Given the description of an element on the screen output the (x, y) to click on. 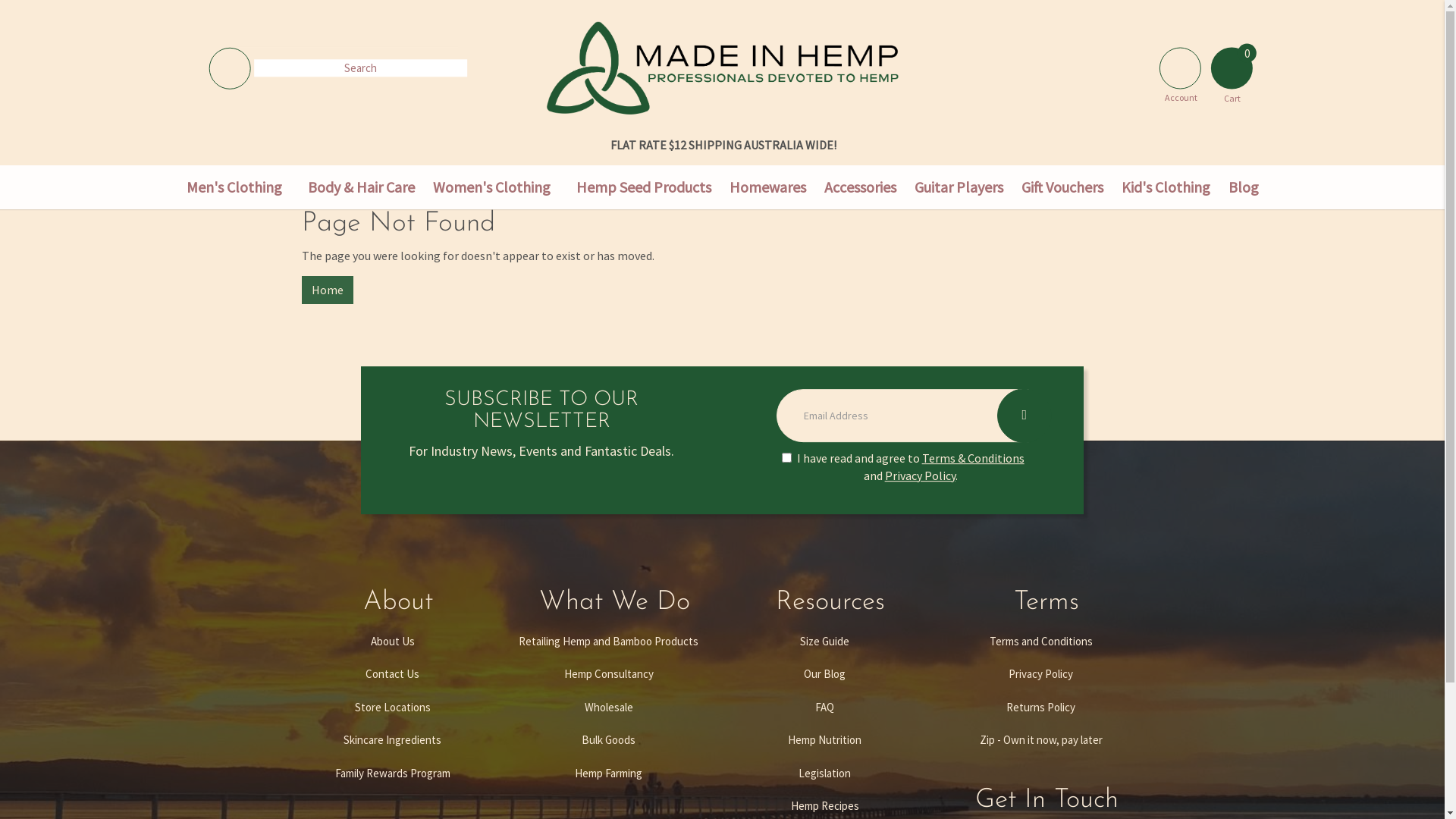
Skincare Ingredients Element type: text (391, 739)
Blog Element type: text (1243, 187)
Bulk Goods Element type: text (608, 739)
Hemp Consultancy Element type: text (608, 673)
Hemp Nutrition Element type: text (823, 739)
Store Locations Element type: text (391, 706)
Gift Vouchers Element type: text (1061, 187)
Terms & Conditions Element type: text (973, 457)
Privacy Policy Element type: text (1040, 673)
Men's Clothing Element type: text (234, 187)
Zip - Own it now, pay later Element type: text (1040, 739)
0
Cart Element type: text (1231, 67)
Women's Clothing Element type: text (490, 187)
Privacy Policy Element type: text (919, 475)
Retailing Hemp and Bamboo Products Element type: text (608, 640)
Homewares Element type: text (767, 187)
Wholesale Element type: text (608, 706)
Guitar Players Element type: text (958, 187)
Account Element type: text (1180, 67)
Hemp Seed Products Element type: text (643, 187)
Terms and Conditions Element type: text (1040, 640)
Hemp Farming Element type: text (608, 772)
About Us Element type: text (391, 640)
Our Blog Element type: text (823, 673)
Size Guide Element type: text (823, 640)
Returns Policy Element type: text (1040, 706)
Contact Us Element type: text (391, 673)
Account Element type: text (1181, 63)
Made In Hemp Pty Ltd Element type: hover (721, 66)
Body & Hair Care Element type: text (360, 187)
Legislation Element type: text (823, 772)
0
Cart Element type: text (1231, 63)
Accessories Element type: text (859, 187)
Kid's Clothing Element type: text (1164, 187)
Home Element type: text (327, 290)
FAQ Element type: text (823, 706)
Family Rewards Program Element type: text (391, 772)
